Given the description of an element on the screen output the (x, y) to click on. 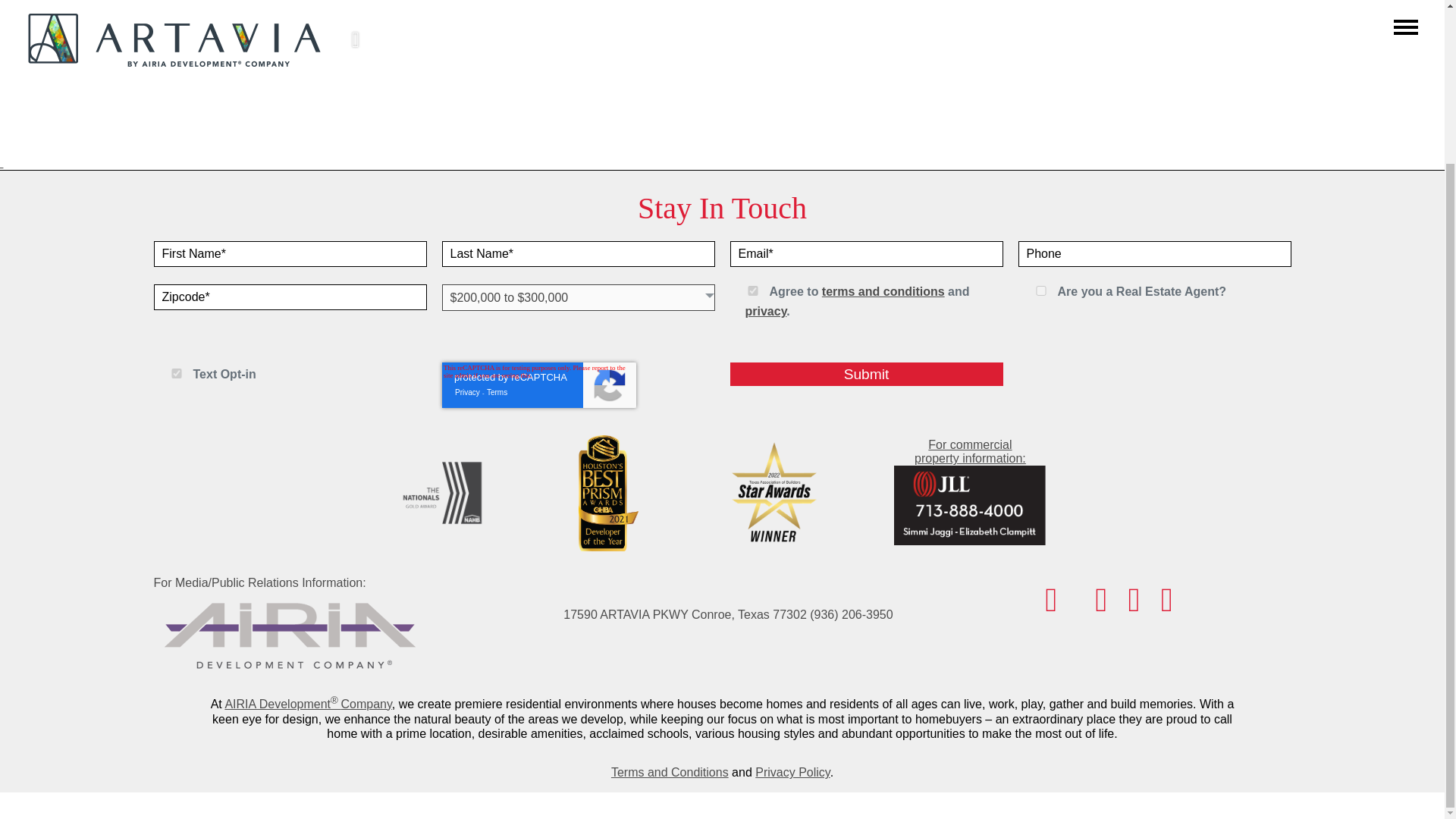
Terms and Conditions (670, 771)
Instagram (1100, 606)
reCAPTCHA (537, 384)
Facebook (1050, 606)
Submit (866, 373)
terms and conditions (883, 291)
17590 ARTAVIA PKWY Conroe, Texas 77302 (684, 614)
Submit (866, 373)
Vimeo (1166, 606)
privacy (765, 310)
Twitter (1133, 606)
Privacy Policy (792, 771)
Text Opt In (175, 373)
true (752, 290)
